Given the description of an element on the screen output the (x, y) to click on. 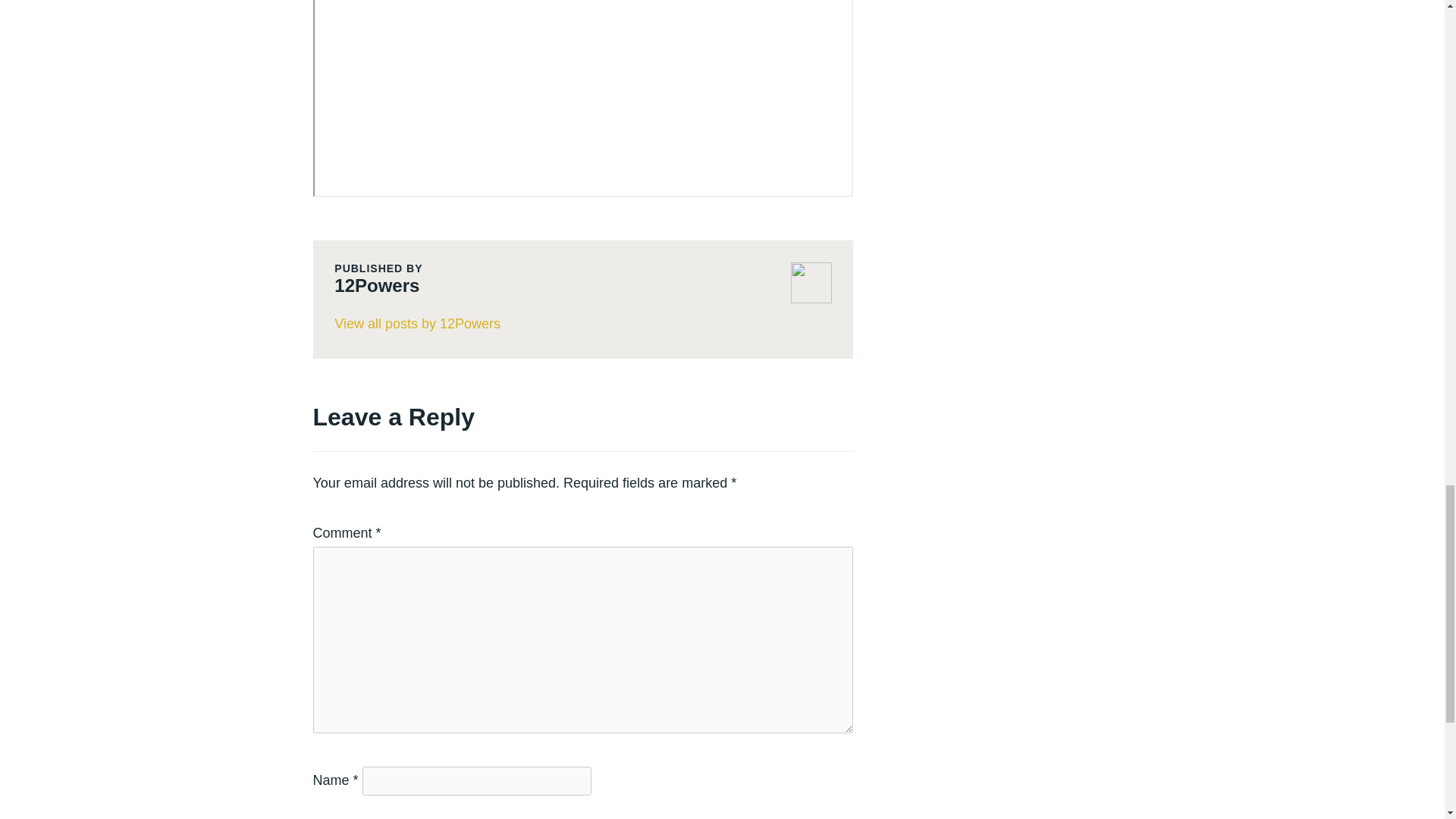
View all posts by 12Powers (582, 324)
